Given the description of an element on the screen output the (x, y) to click on. 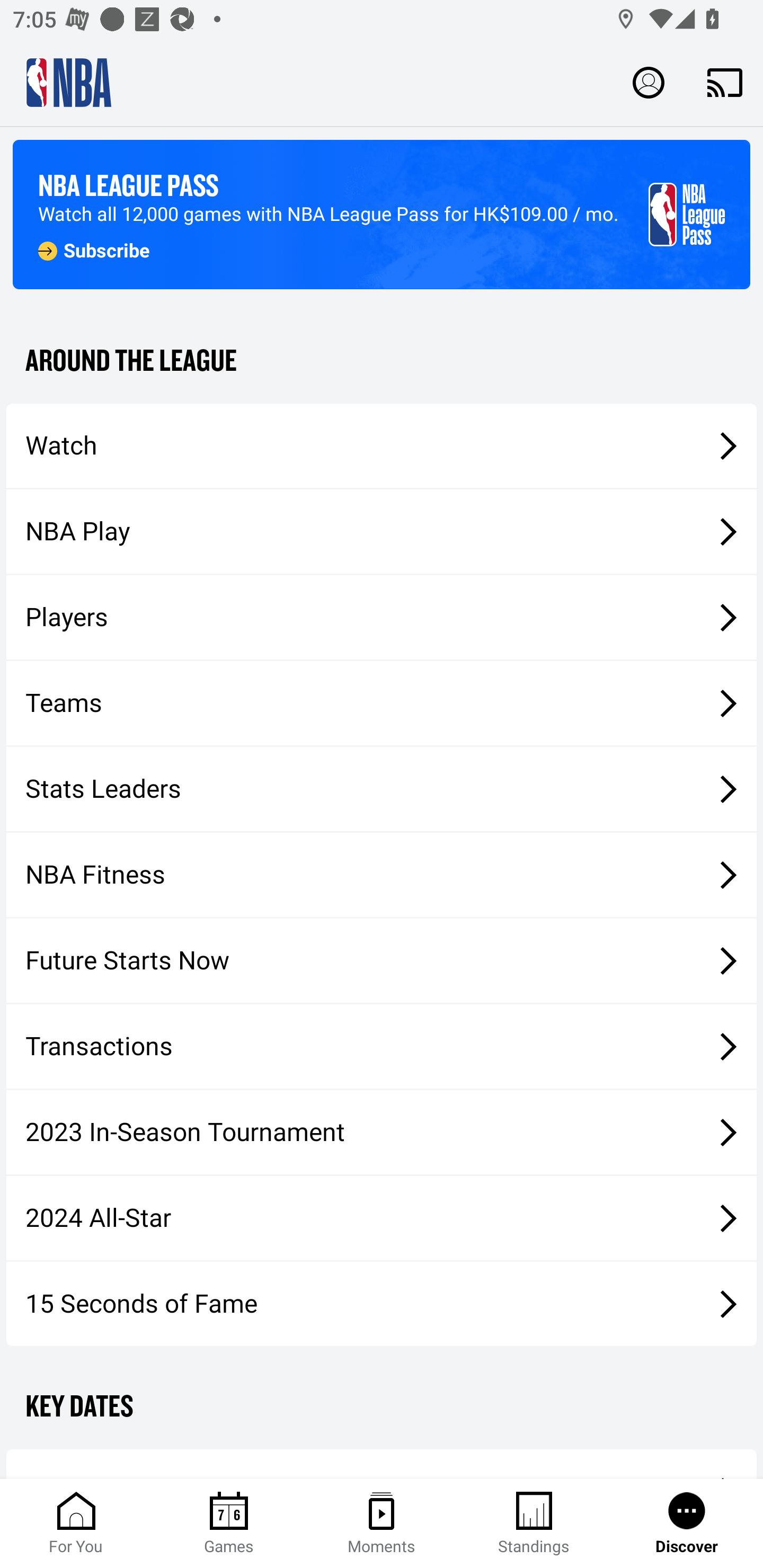
Cast. Disconnected (724, 82)
Profile (648, 81)
Watch (381, 444)
NBA Play (381, 531)
Players (381, 617)
Teams (381, 702)
Stats Leaders (381, 788)
NBA Fitness (381, 874)
Future Starts Now (381, 960)
Transactions (381, 1046)
2023 In-Season Tournament (381, 1131)
2024 All-Star (381, 1218)
15 Seconds of Fame (381, 1303)
For You (76, 1523)
Games (228, 1523)
Moments (381, 1523)
Standings (533, 1523)
